Given the description of an element on the screen output the (x, y) to click on. 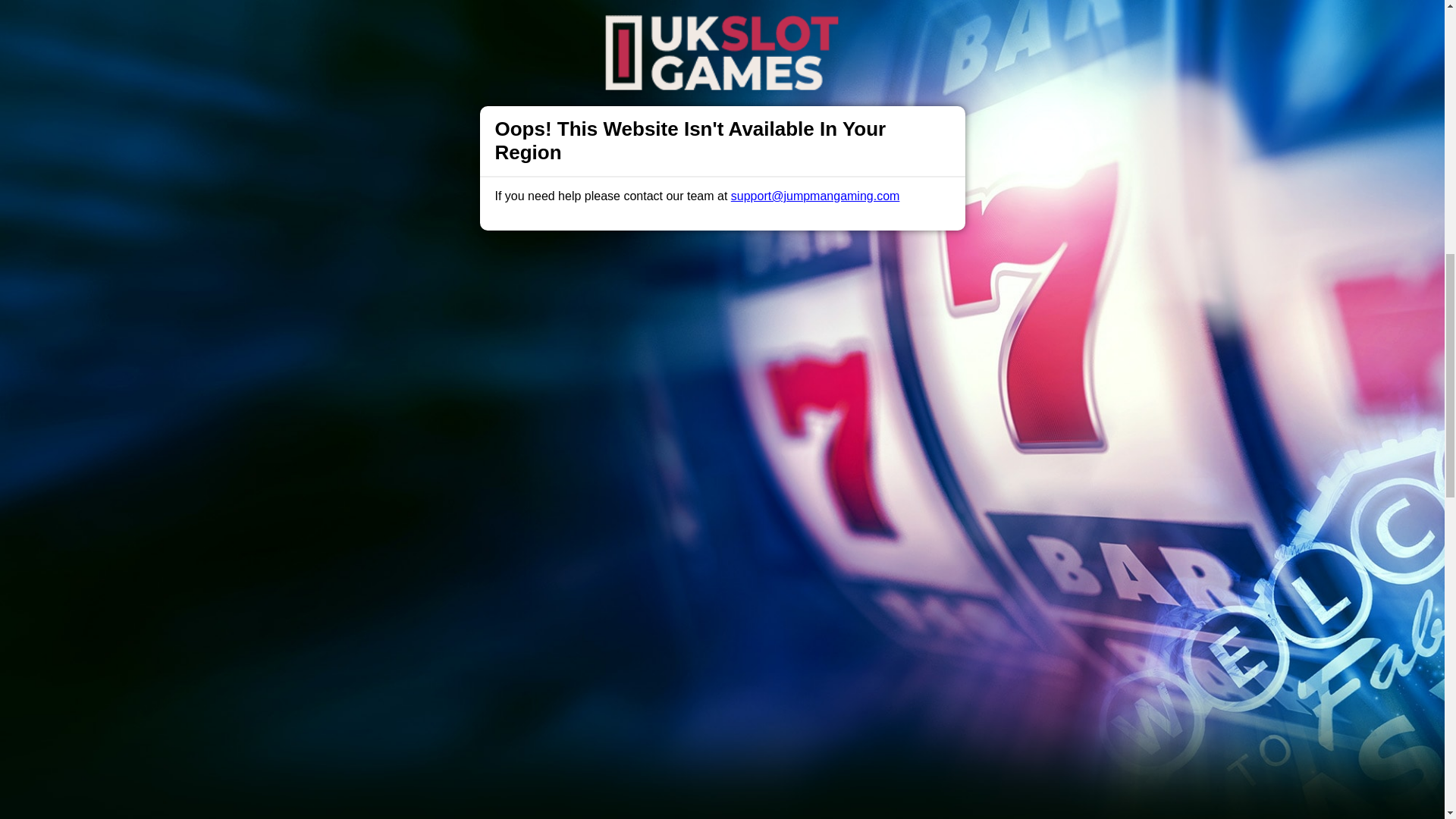
Leprechaun Song UK Slot Game (722, 59)
Irish Luck UK Slot Game (722, 12)
Fluffy Favourites UK Slot Game (722, 128)
Starburst UK Slot Game (722, 196)
